Given the description of an element on the screen output the (x, y) to click on. 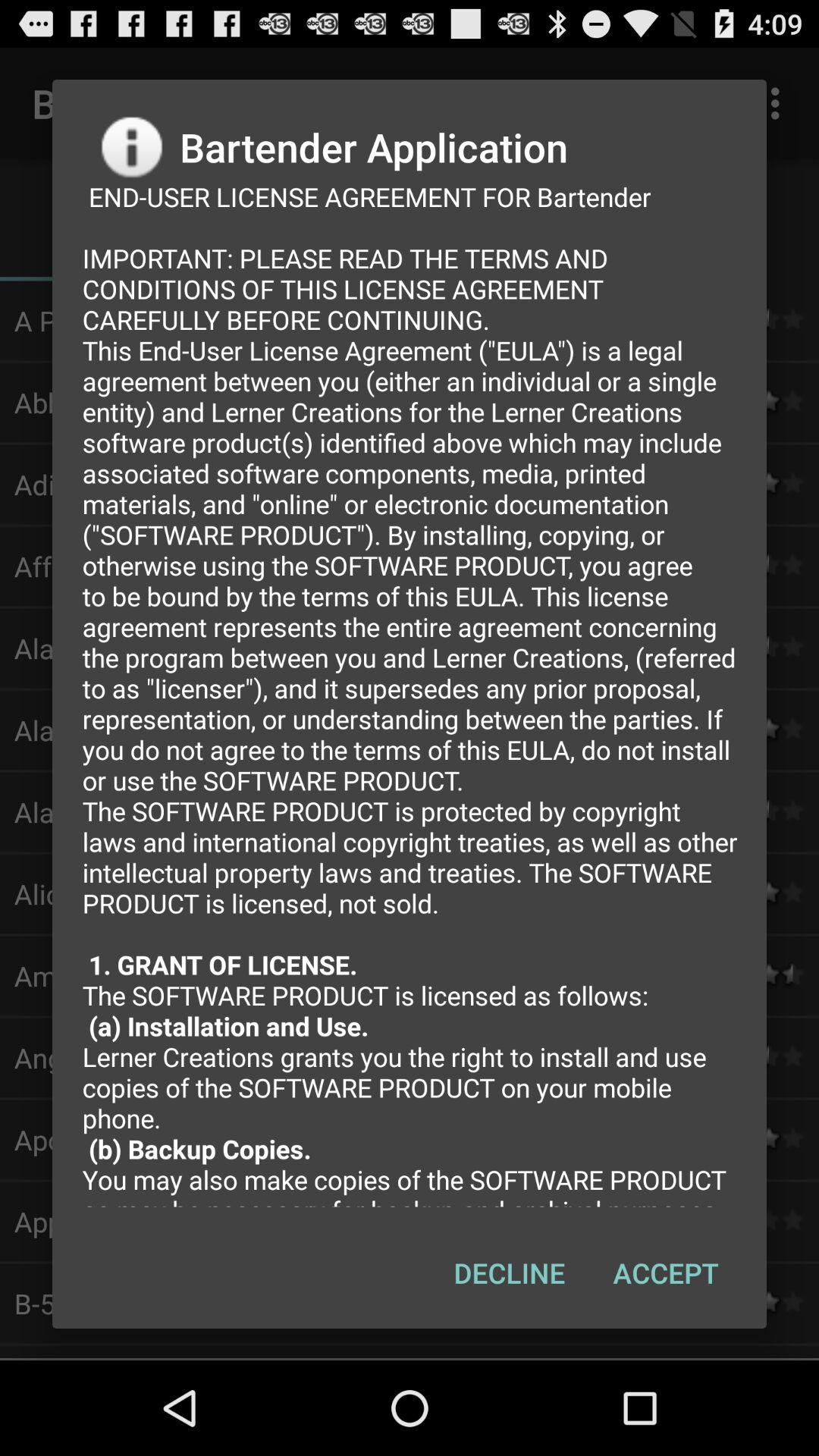
turn on item to the right of the decline (665, 1272)
